Given the description of an element on the screen output the (x, y) to click on. 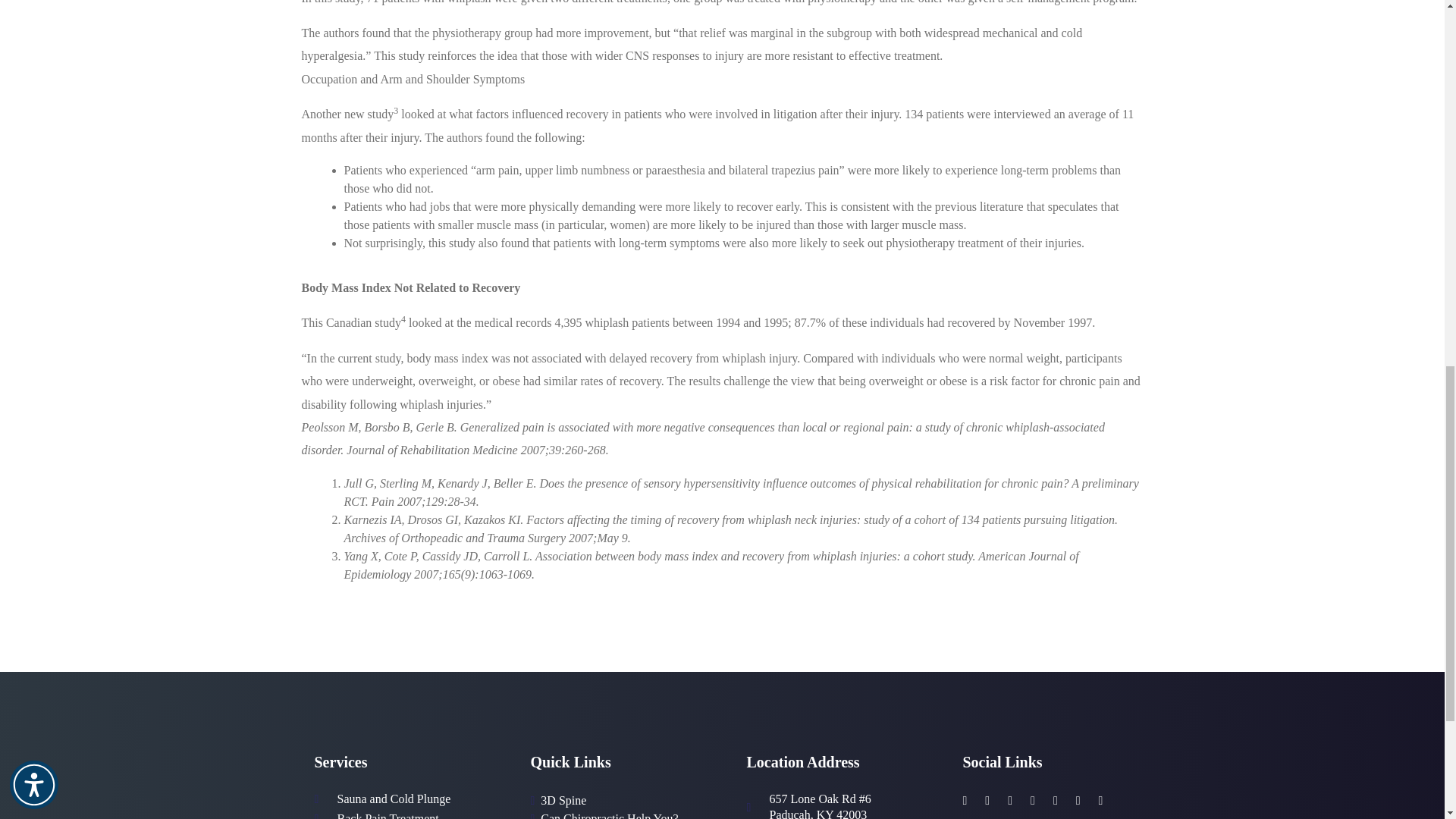
Can Chiropractic Help You? (609, 814)
Back Pain Treatment (387, 815)
Sauna and Cold Plunge (392, 799)
3D Spine (563, 800)
